Given the description of an element on the screen output the (x, y) to click on. 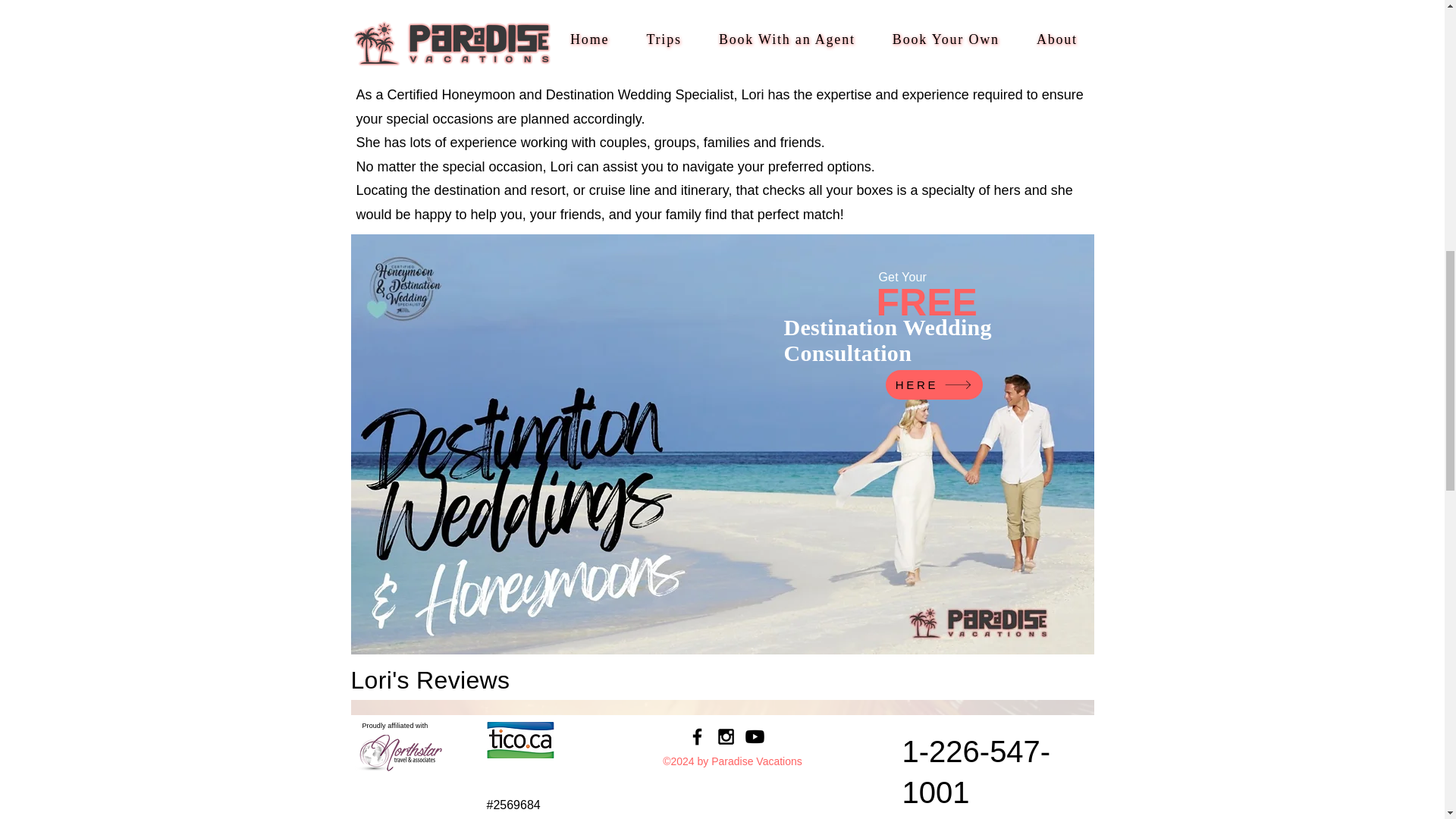
GettyImages-535587703.jpg (973, 794)
GettyImages-145680711.jpg (472, 794)
GettyImages-124893619.jpg (724, 794)
HERE (933, 384)
